Given the description of an element on the screen output the (x, y) to click on. 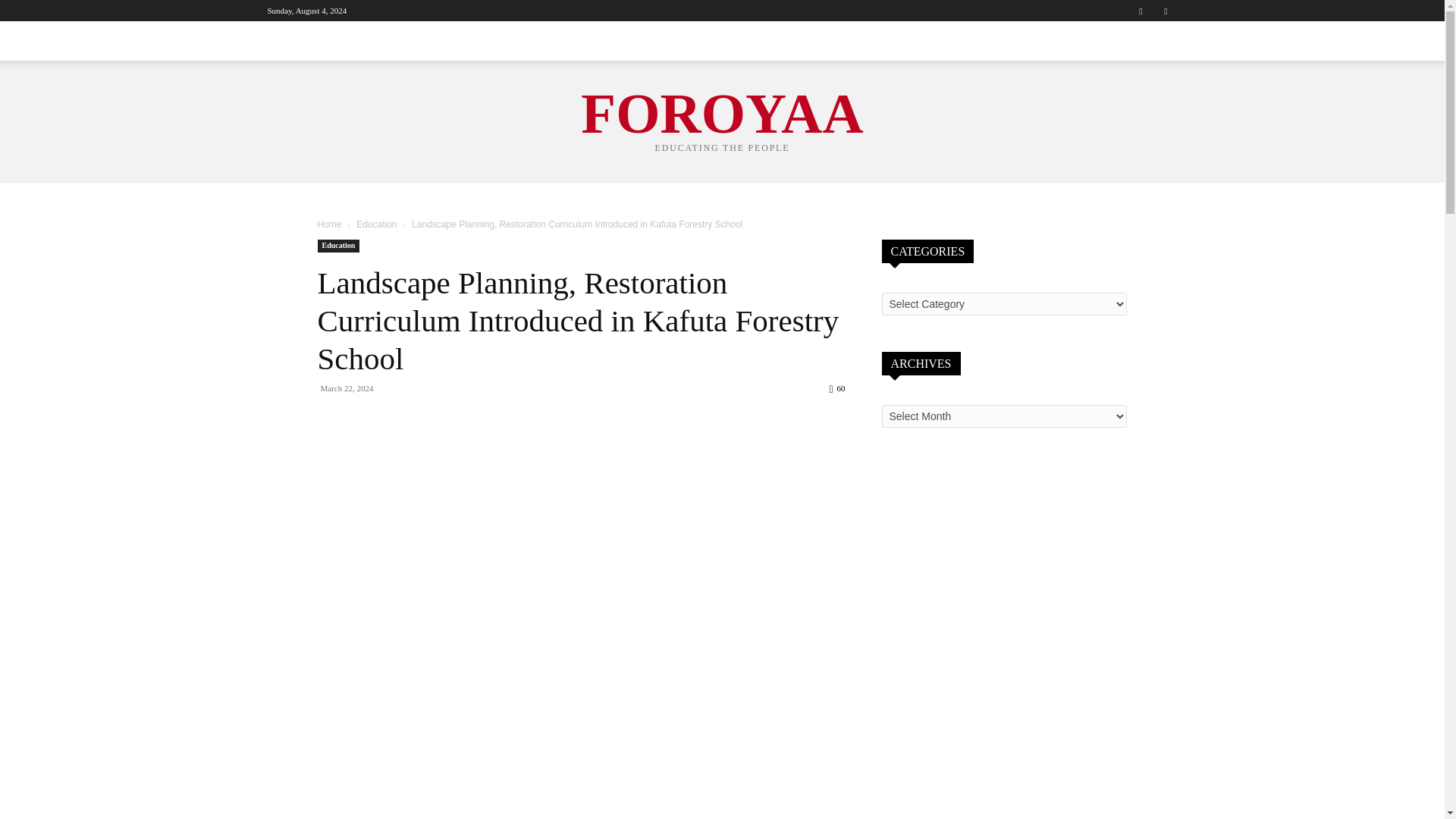
Twitter (1165, 10)
ALL NEWS (296, 40)
Facebook (1140, 10)
